Given the description of an element on the screen output the (x, y) to click on. 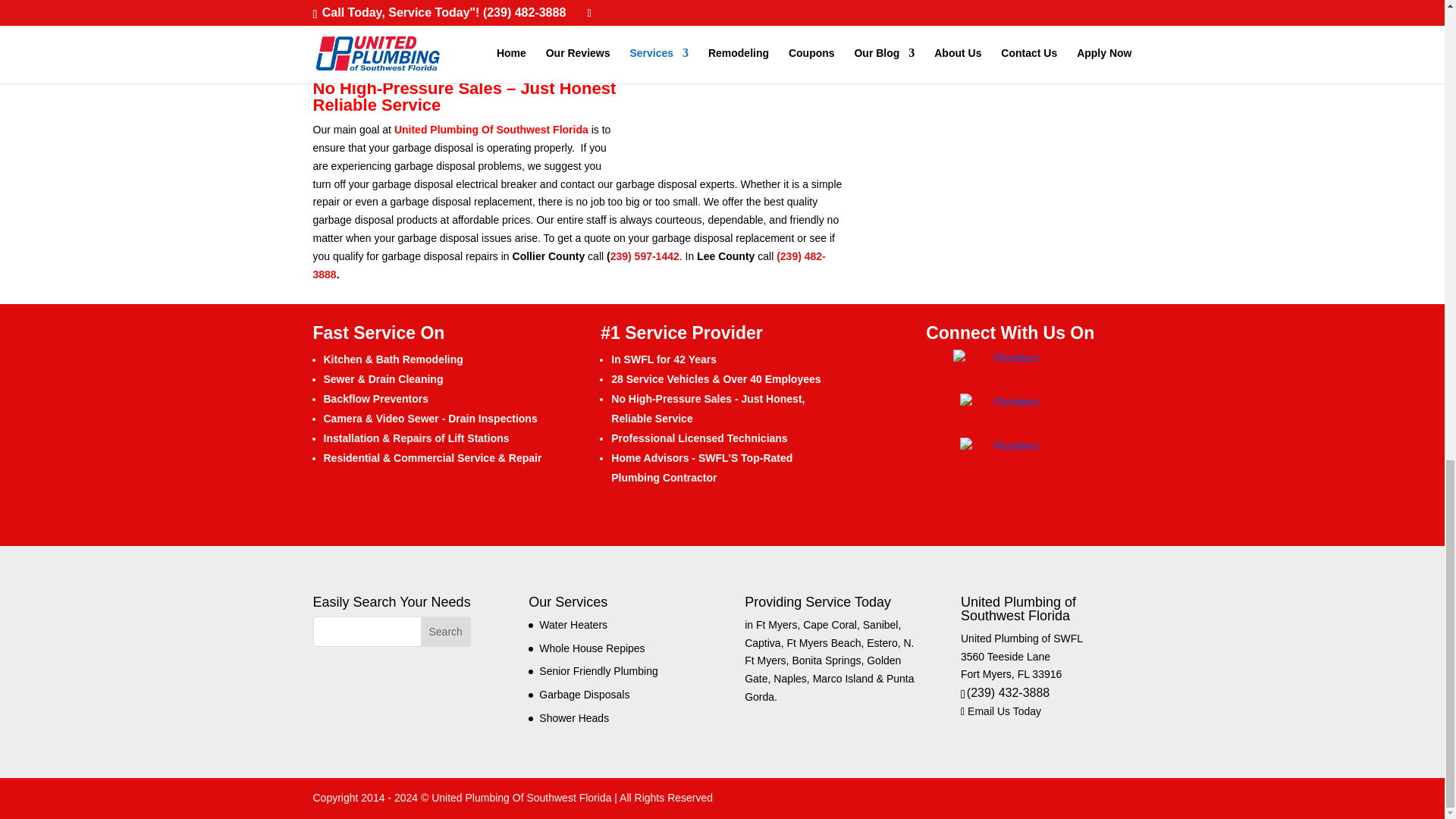
Shower Heads (573, 717)
Water Heaters (572, 624)
Search (445, 631)
Search (445, 631)
Email Us Today (1000, 711)
Whole House Repipes (591, 648)
Garbage Disposals (583, 694)
Senior Friendly Plumbing (598, 671)
